Given the description of an element on the screen output the (x, y) to click on. 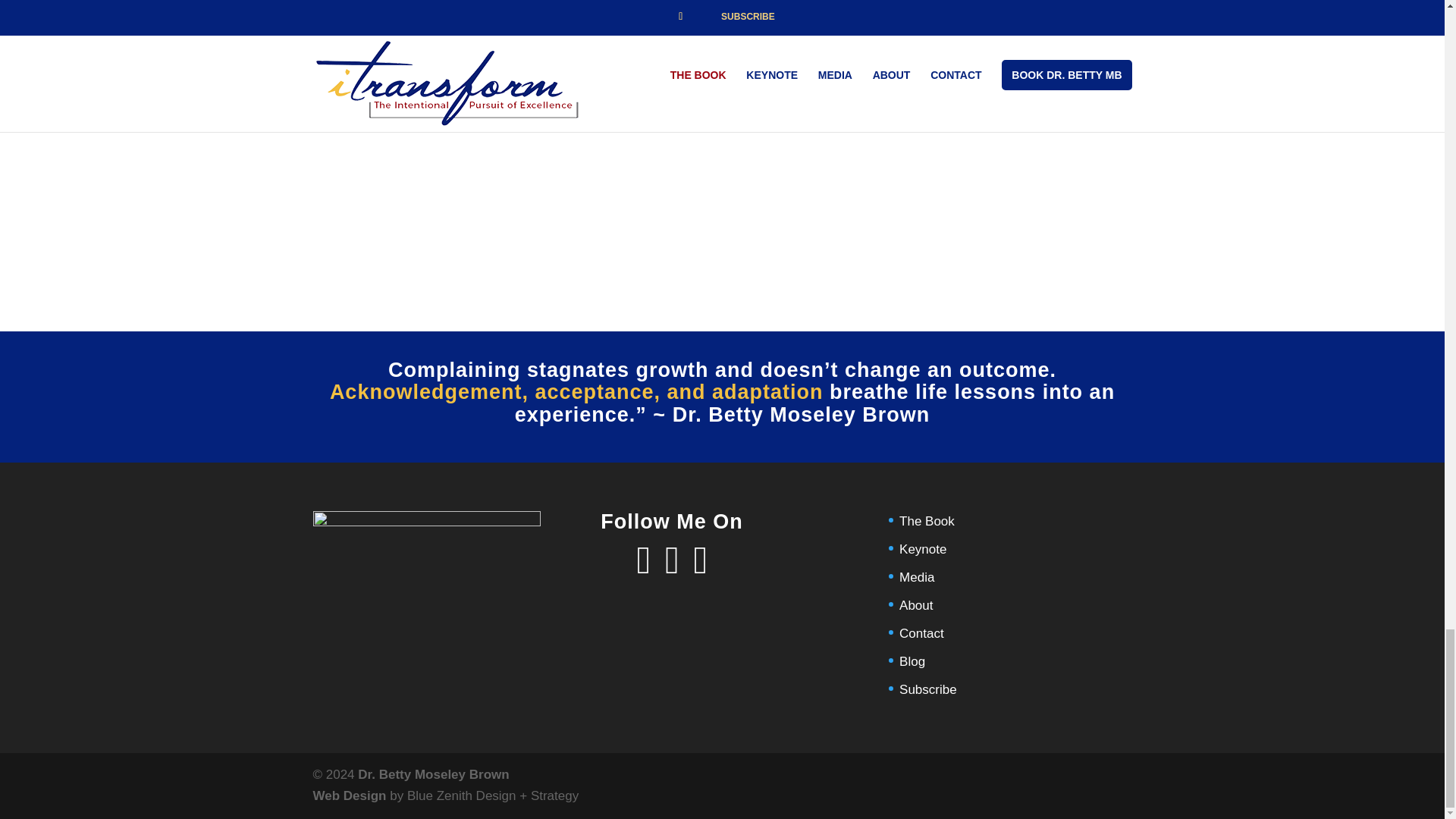
About (916, 605)
Contact (921, 633)
Blog (911, 661)
Media (916, 577)
Subscribe (927, 689)
Web Design (349, 795)
Keynote (922, 549)
The Book (927, 521)
